Given the description of an element on the screen output the (x, y) to click on. 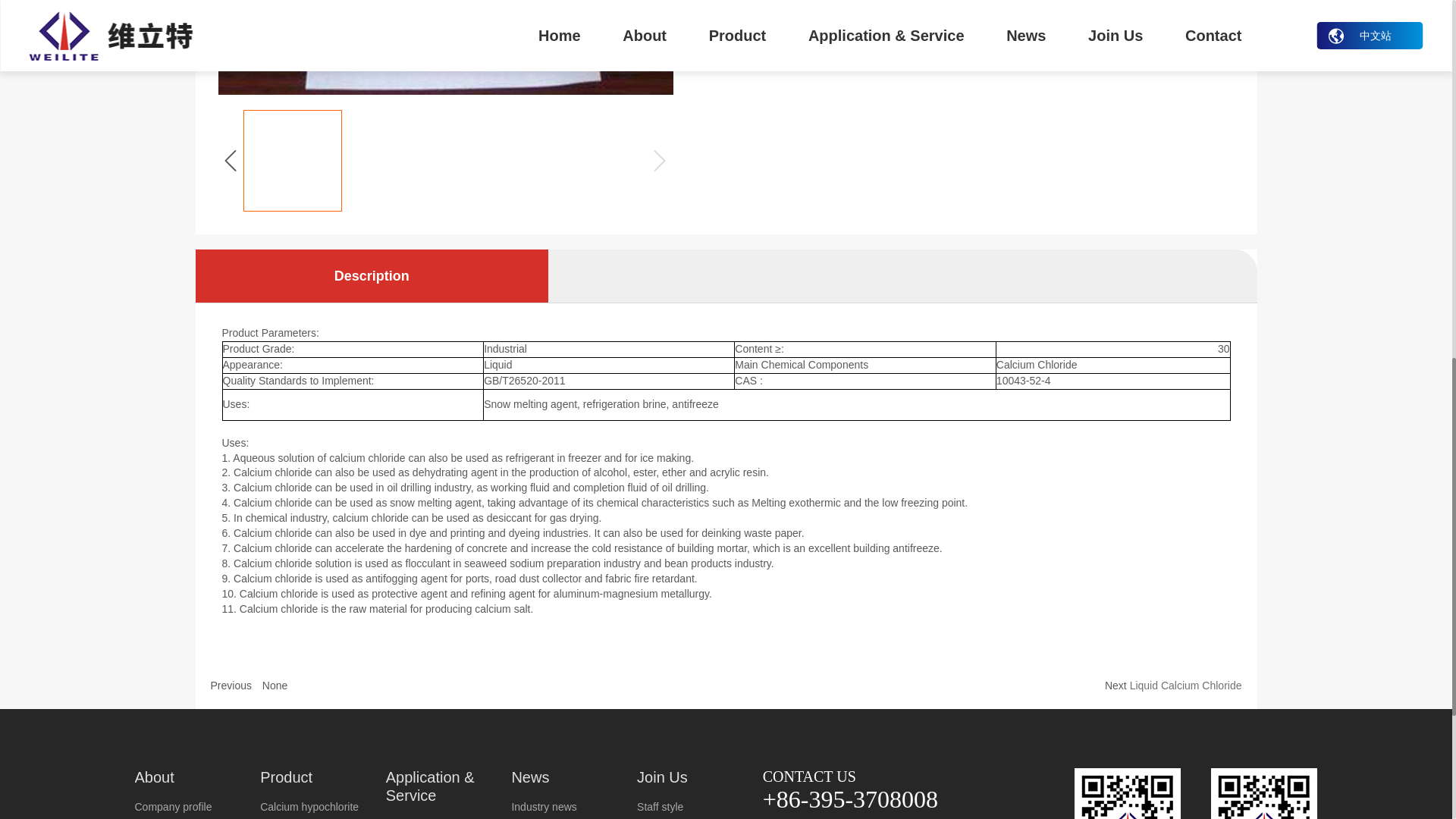
Liquid Calcium Chloride (1185, 684)
QR code (1264, 793)
QR code (1127, 793)
